Given the description of an element on the screen output the (x, y) to click on. 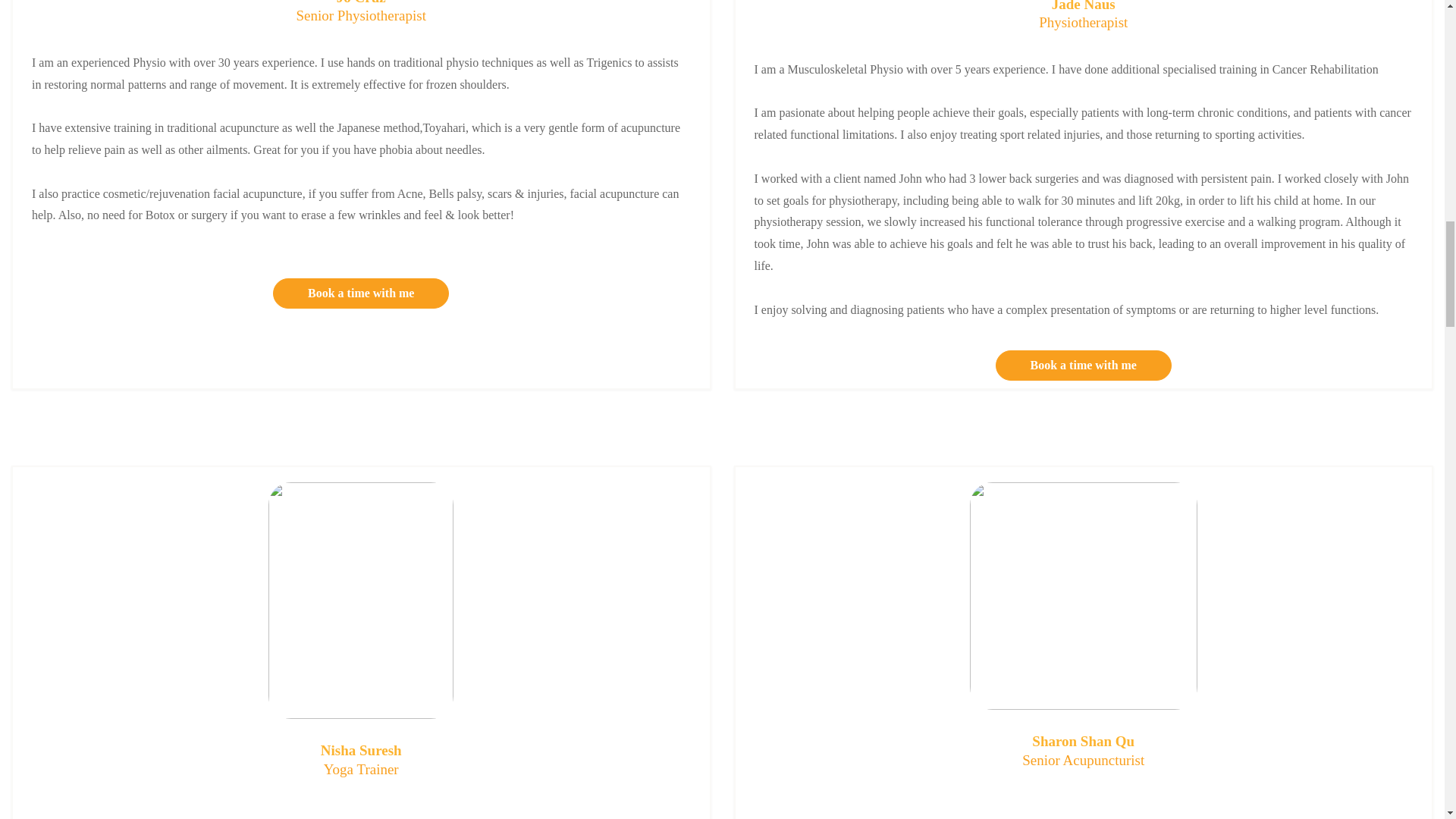
Book a time with me (360, 293)
Book a time with me (1083, 365)
